Given the description of an element on the screen output the (x, y) to click on. 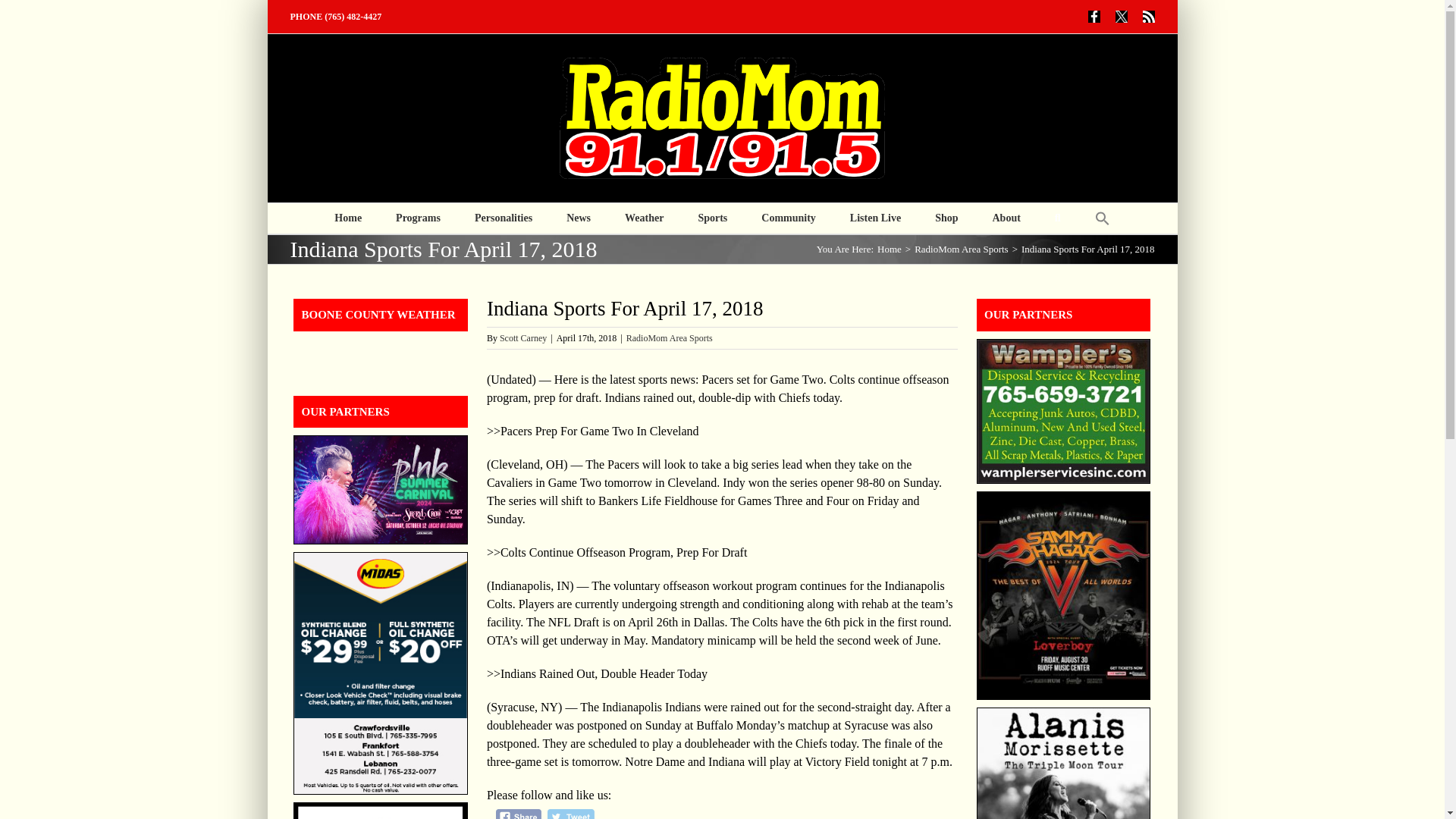
Tweet (570, 814)
Sports (711, 218)
Home (347, 218)
Posts by Scott Carney (523, 337)
Personalities (503, 218)
Facebook Share (518, 814)
Weather (643, 218)
Programs (418, 218)
RSS (1147, 16)
X (1120, 16)
About (1005, 218)
Listen Live (875, 218)
Facebook (1093, 16)
Community (788, 218)
